Given the description of an element on the screen output the (x, y) to click on. 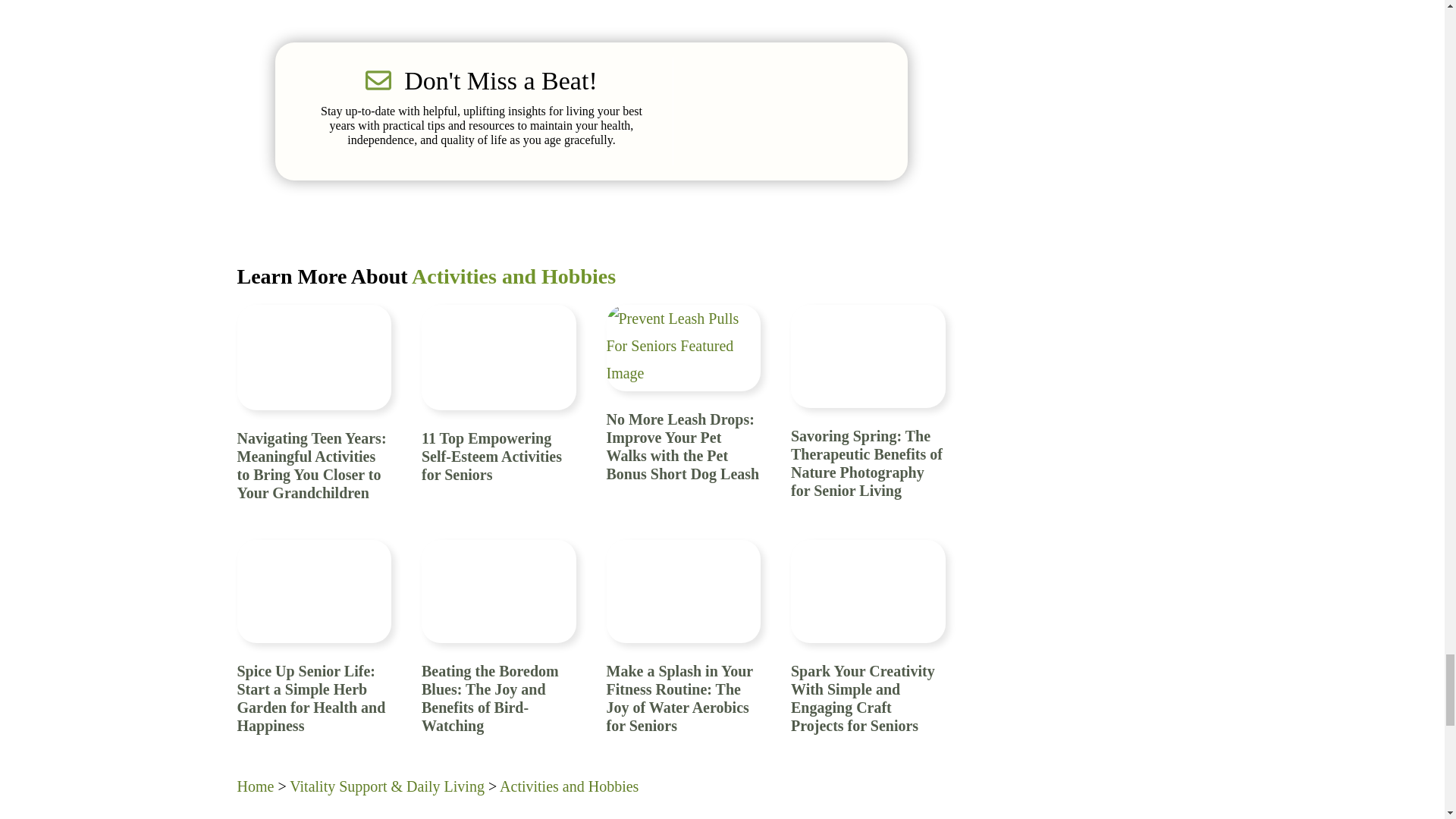
Activities and Hobbies (513, 276)
